Given the description of an element on the screen output the (x, y) to click on. 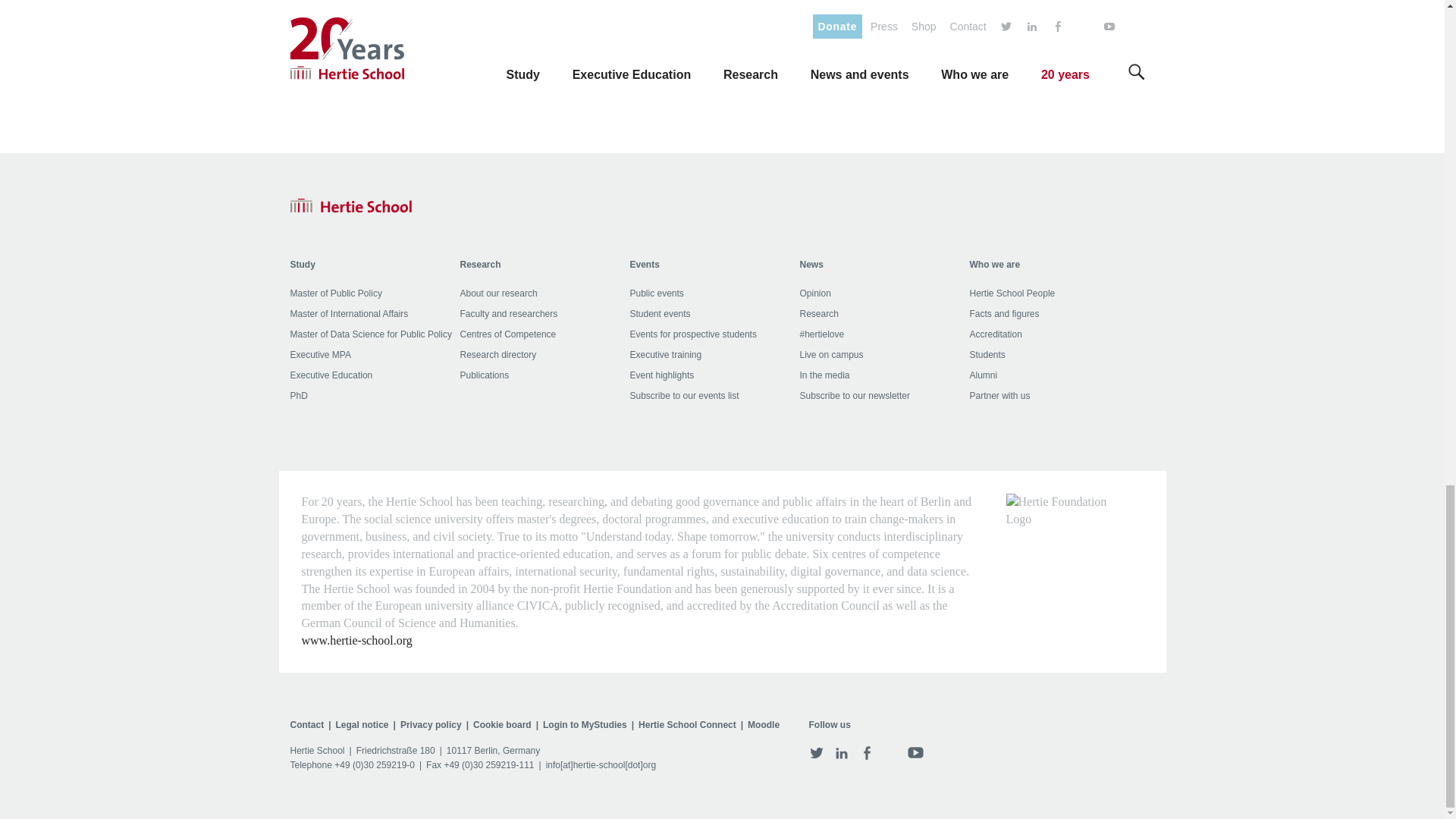
Executive Education (330, 375)
Master of Public Policy (335, 293)
Master of Data Science for Public Policy (370, 334)
Master of International Affairs (348, 313)
About our research (498, 293)
Faculty and researchers (508, 313)
Home (349, 205)
PhD (298, 395)
Executive MPA (319, 354)
